Given the description of an element on the screen output the (x, y) to click on. 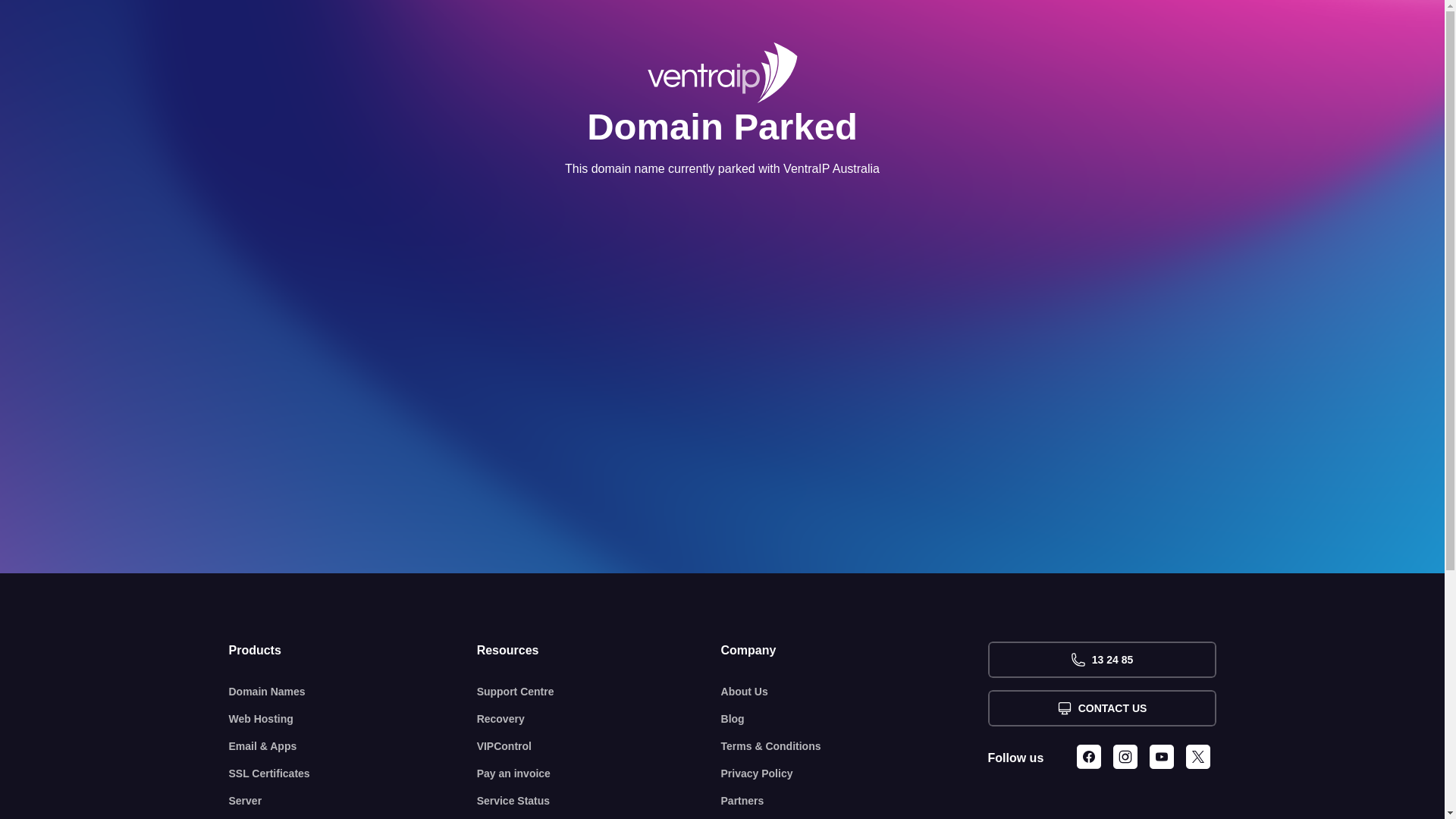
Server Element type: text (352, 800)
Web Hosting Element type: text (352, 718)
Pay an invoice Element type: text (598, 773)
Terms & Conditions Element type: text (854, 745)
CONTACT US Element type: text (1101, 708)
Privacy Policy Element type: text (854, 773)
Blog Element type: text (854, 718)
Partners Element type: text (854, 800)
Email & Apps Element type: text (352, 745)
Recovery Element type: text (598, 718)
About Us Element type: text (854, 691)
Service Status Element type: text (598, 800)
SSL Certificates Element type: text (352, 773)
VIPControl Element type: text (598, 745)
Domain Names Element type: text (352, 691)
Support Centre Element type: text (598, 691)
13 24 85 Element type: text (1101, 659)
